Given the description of an element on the screen output the (x, y) to click on. 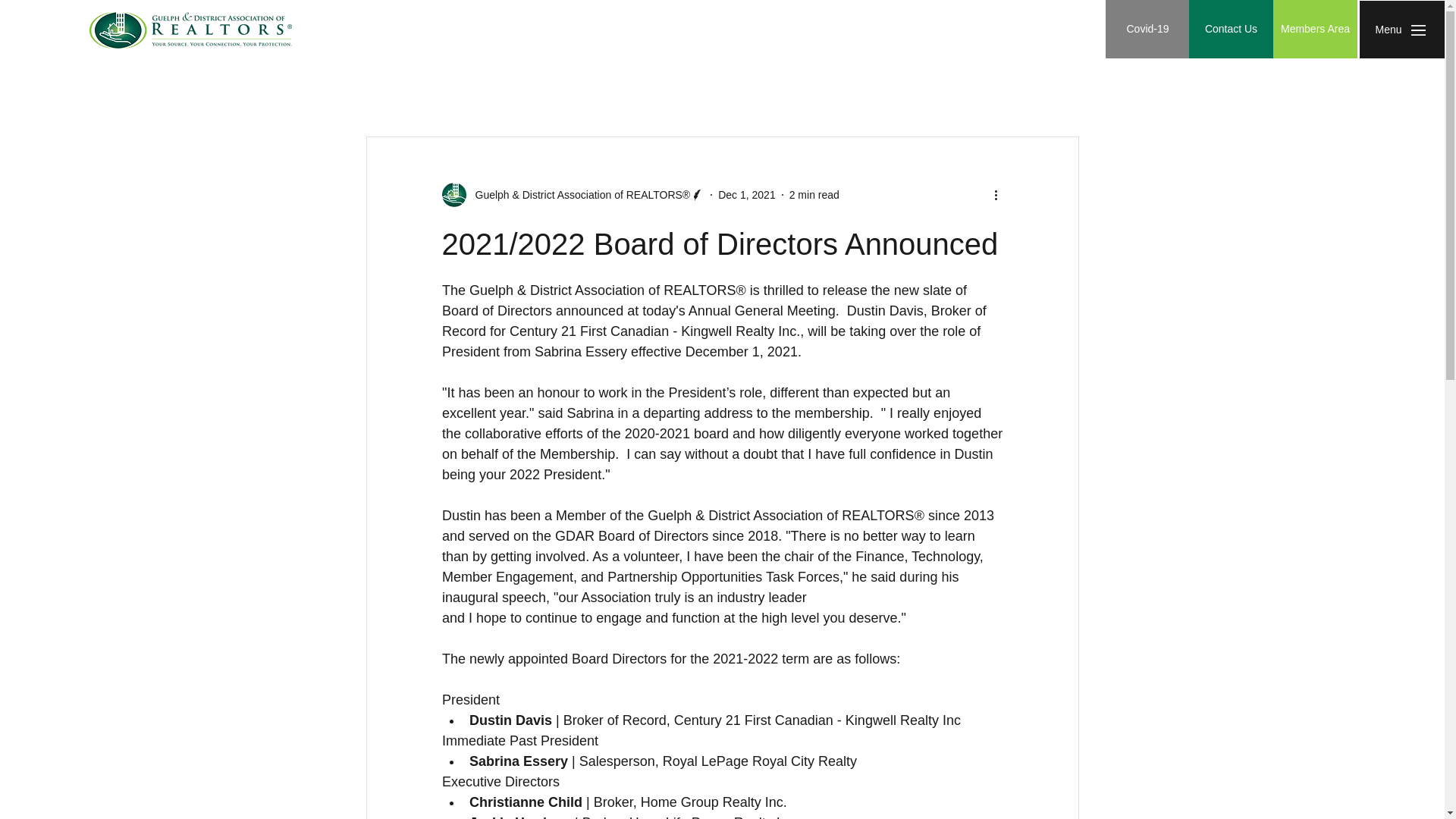
2 min read (814, 193)
Dec 1, 2021 (746, 193)
Contact Us (1230, 29)
Covid-19 (1147, 29)
Members Area (1314, 29)
